Given the description of an element on the screen output the (x, y) to click on. 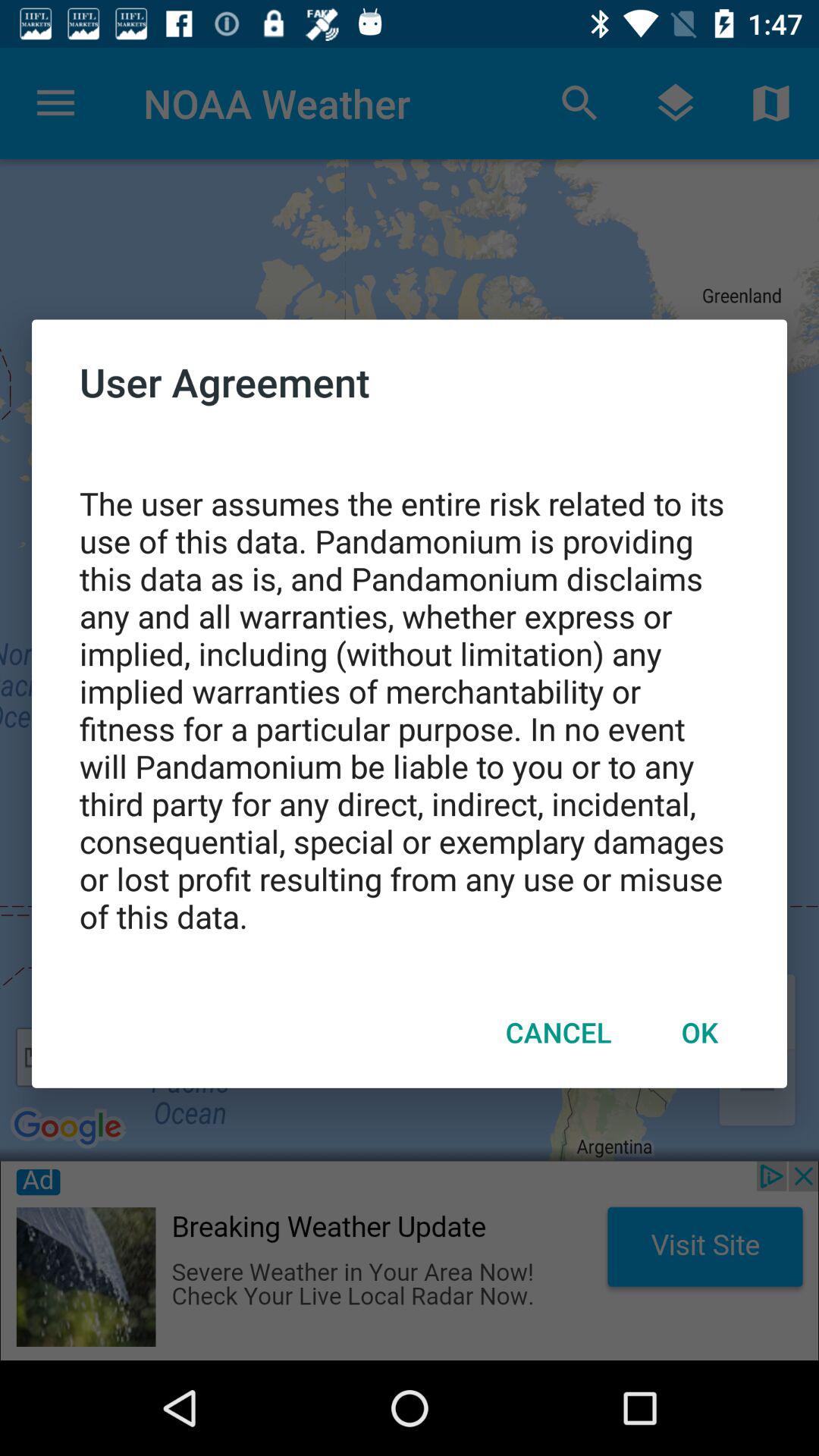
press ok (699, 1032)
